Given the description of an element on the screen output the (x, y) to click on. 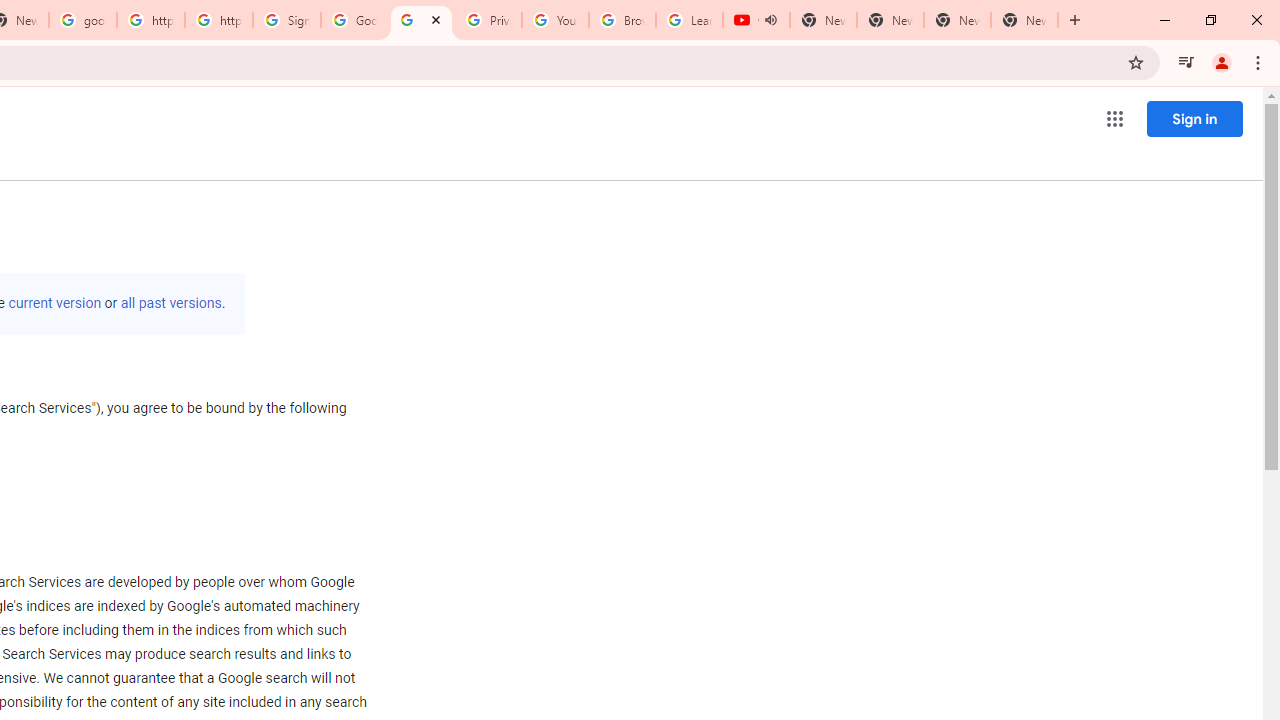
all past versions (170, 303)
current version (54, 303)
https://scholar.google.com/ (219, 20)
Sign in - Google Accounts (287, 20)
YouTube (555, 20)
